Given the description of an element on the screen output the (x, y) to click on. 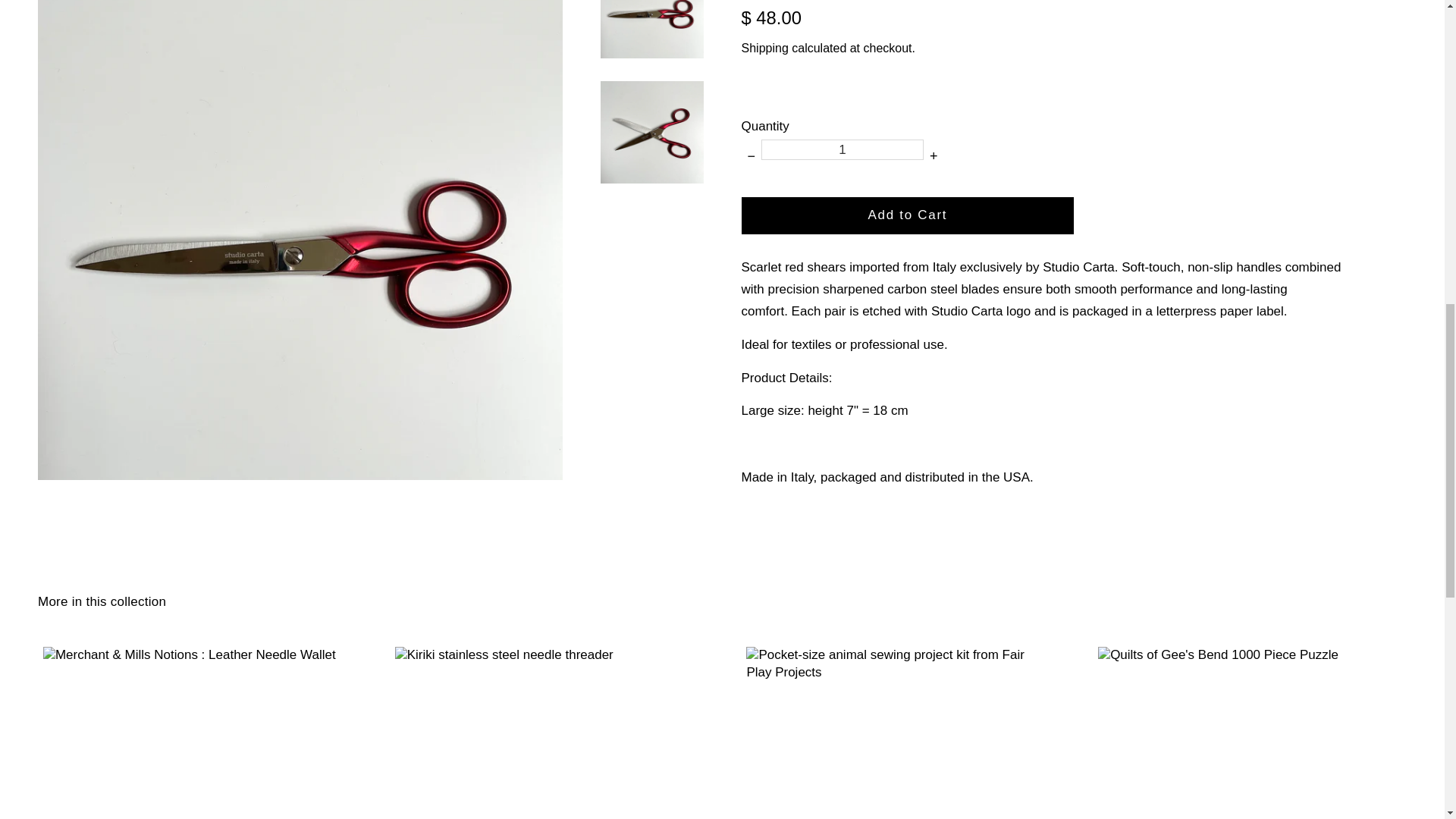
1 (842, 149)
